Given the description of an element on the screen output the (x, y) to click on. 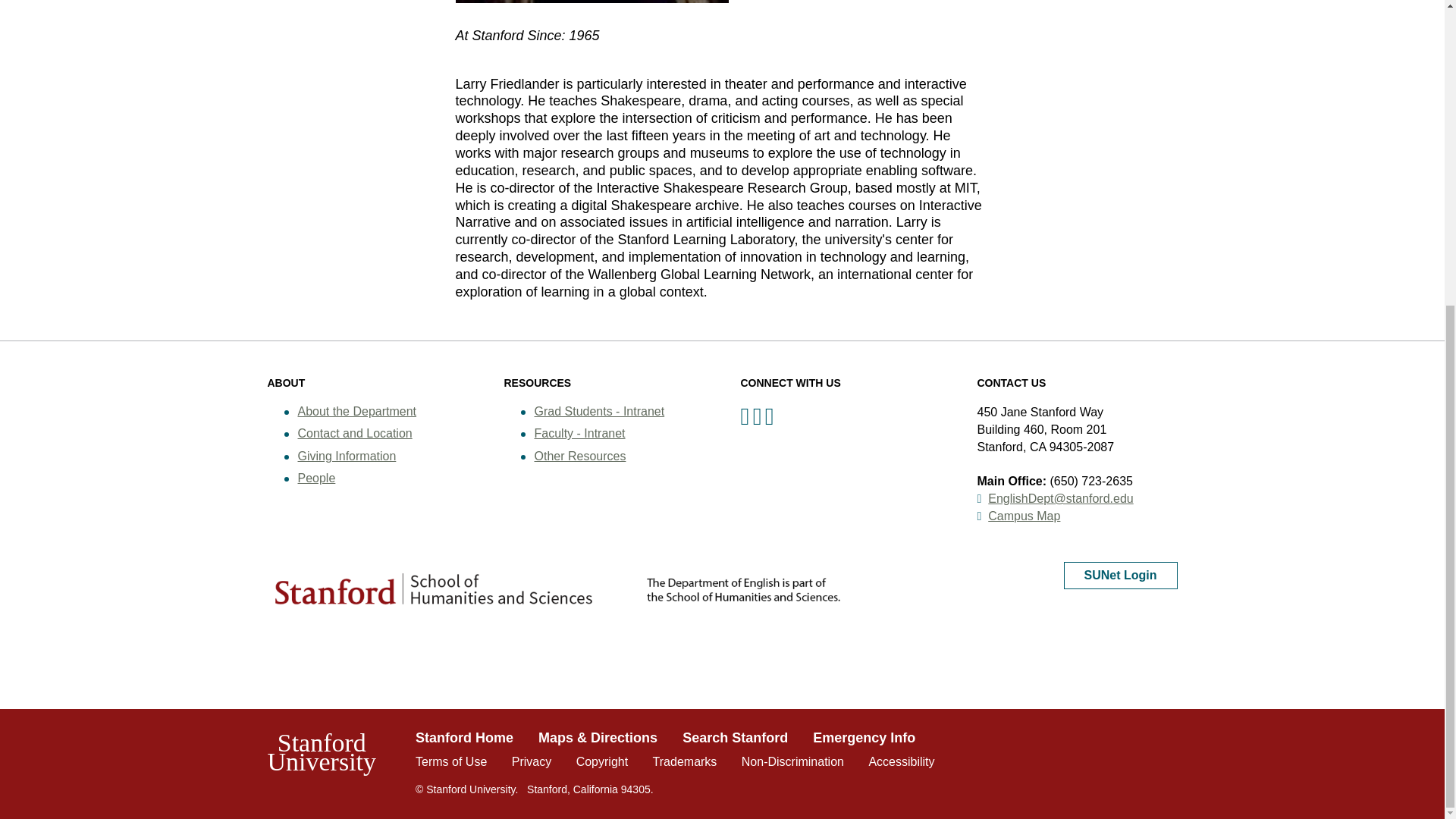
Terms of use for sites (450, 761)
Report web accessibility issues (900, 761)
Faculty-Intranet (579, 432)
Privacy and cookie policy (531, 761)
Non-discrimination policy (792, 761)
Ownership and use of Stanford trademarks and images (684, 761)
Report alleged copyright infringement (601, 761)
